Given the description of an element on the screen output the (x, y) to click on. 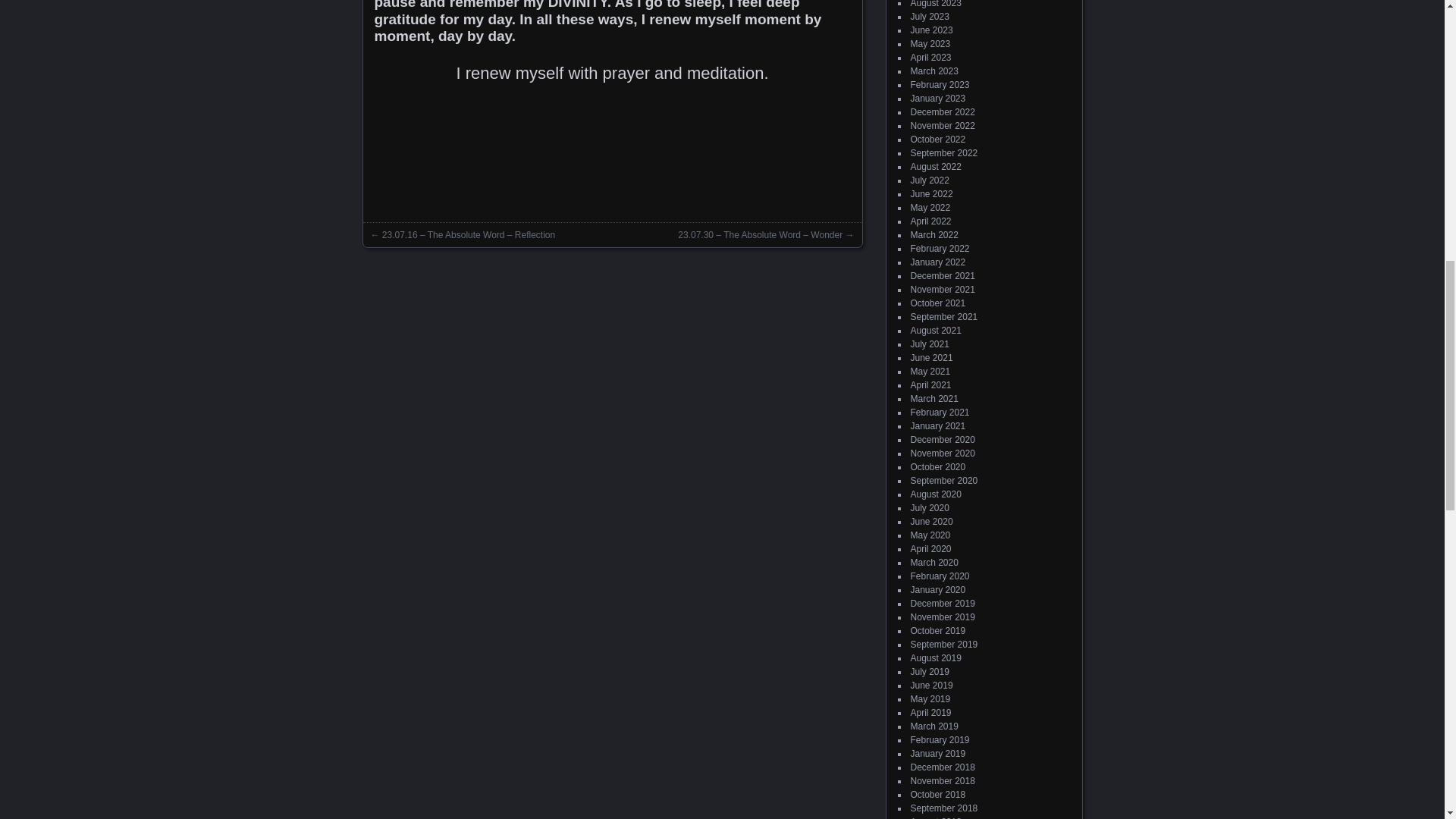
July 2023 (929, 16)
August 2023 (935, 4)
